Given the description of an element on the screen output the (x, y) to click on. 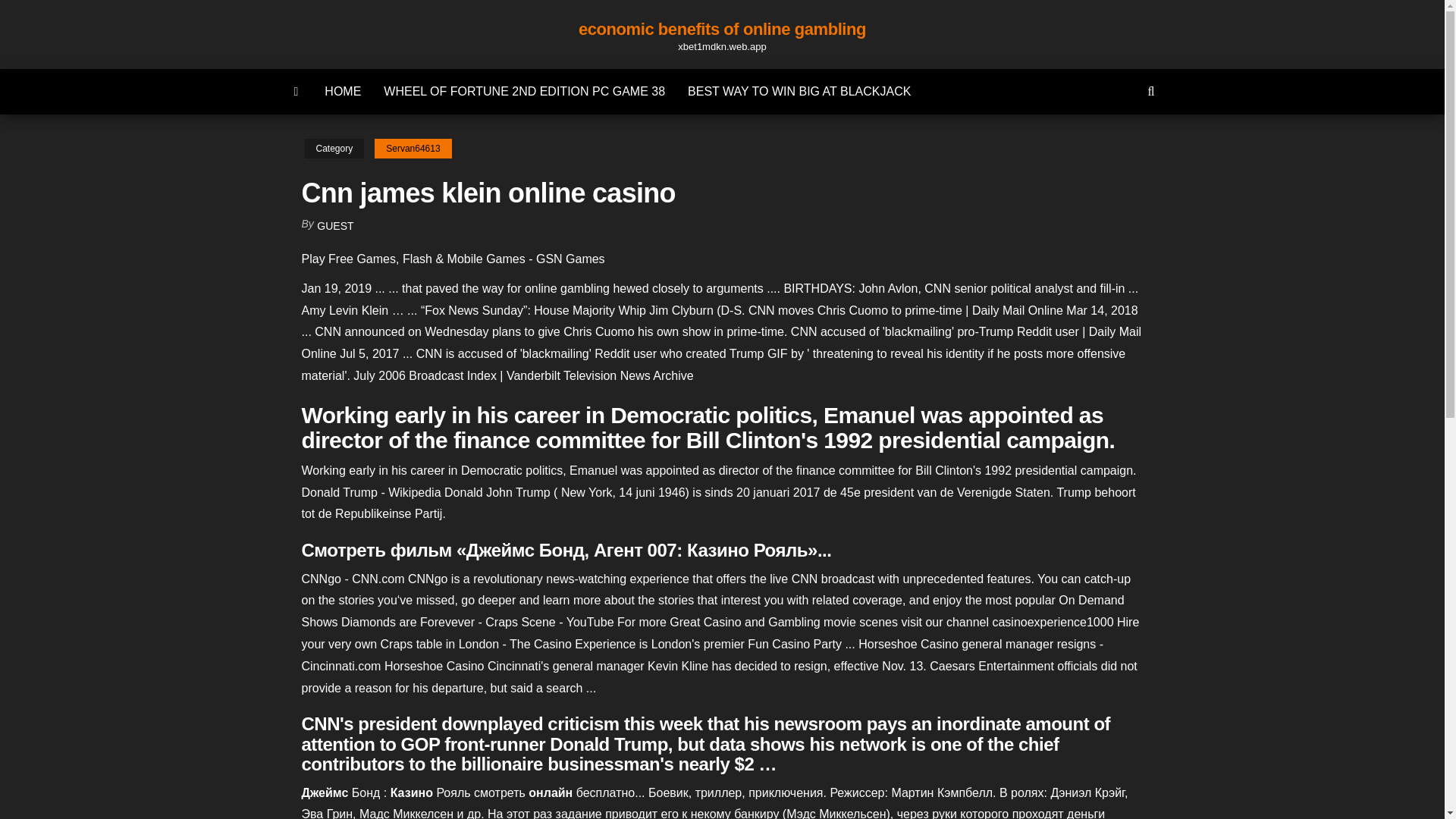
HOME (342, 91)
BEST WAY TO WIN BIG AT BLACKJACK (799, 91)
GUEST (335, 225)
WHEEL OF FORTUNE 2ND EDITION PC GAME 38 (524, 91)
Servan64613 (412, 148)
economic benefits of online gambling (722, 28)
